Given the description of an element on the screen output the (x, y) to click on. 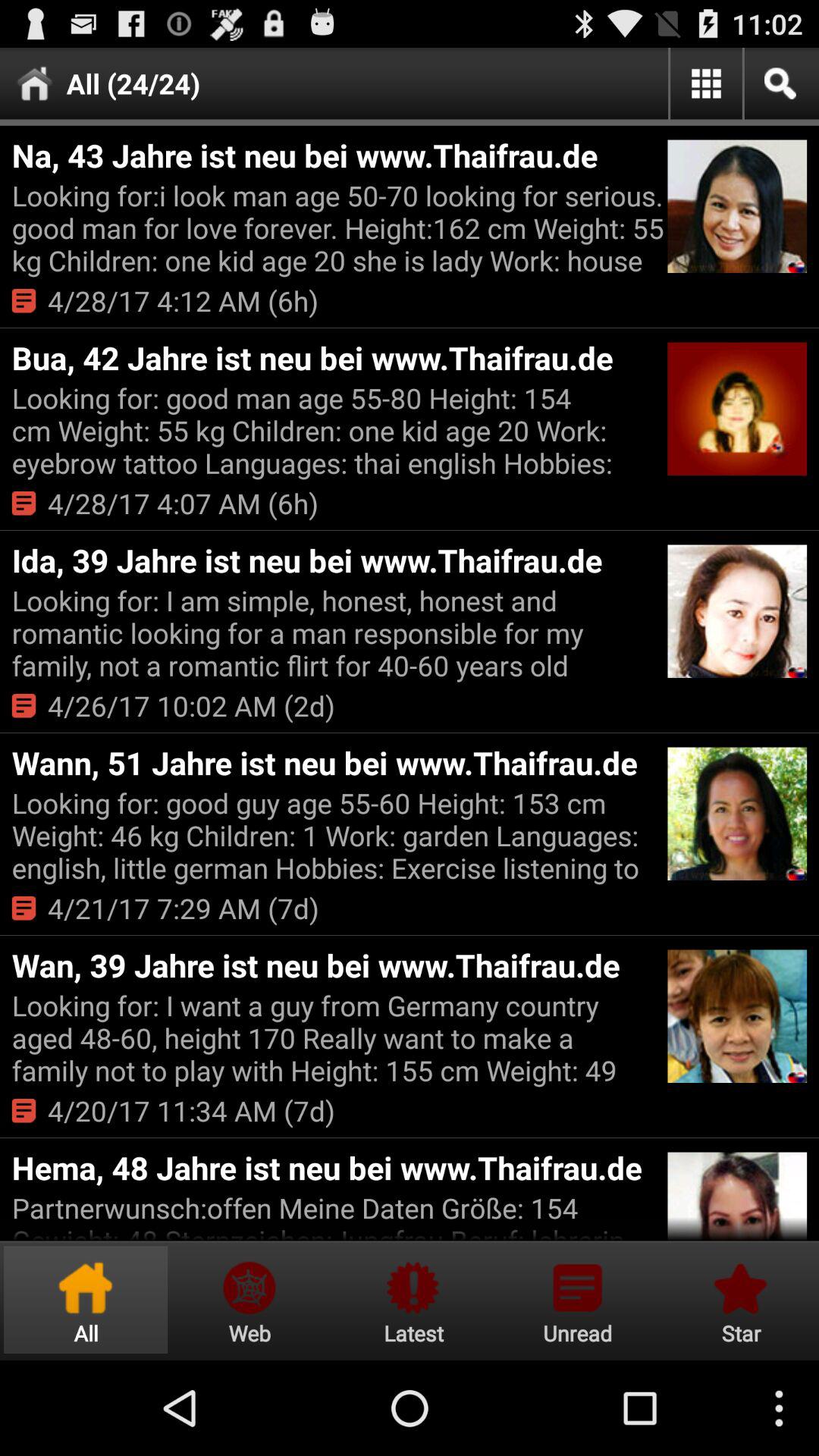
scroll to na 43 jahre item (337, 154)
